Given the description of an element on the screen output the (x, y) to click on. 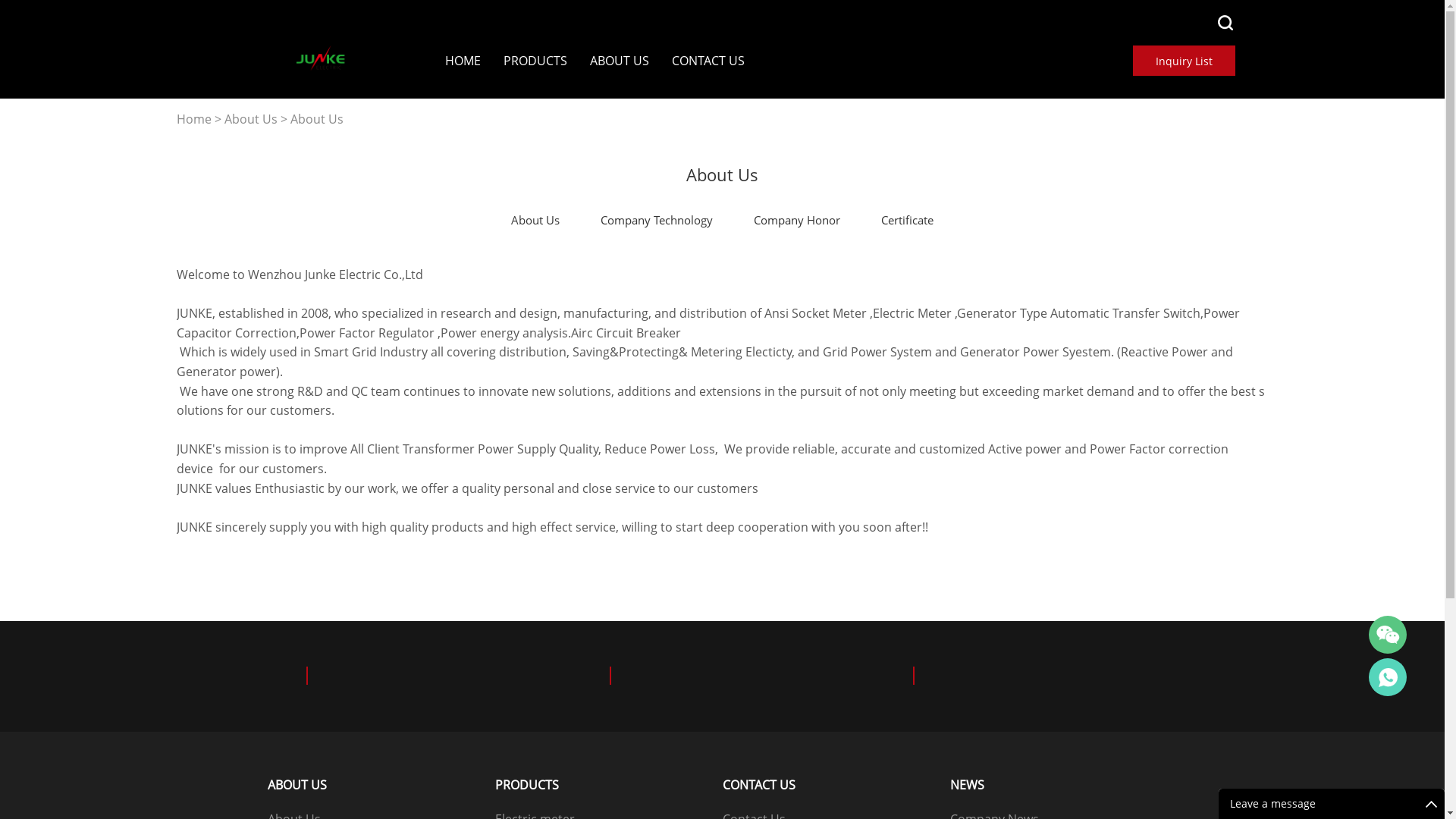
ABOUT US Element type: text (619, 60)
About Us Element type: text (315, 119)
Inquiry List Element type: text (1183, 60)
facebook Element type: text (186, 578)
Certificate Element type: text (907, 219)
About Us Element type: text (250, 119)
Junke wo Element type: text (1387, 677)
whatsapp Element type: text (309, 578)
Company Honor Element type: text (796, 219)
line Element type: text (227, 578)
tumblr Element type: text (391, 578)
pinterest Element type: text (350, 578)
PRODUCTS Element type: text (535, 60)
CONTACT US Element type: text (707, 60)
About Us Element type: text (535, 219)
Home Element type: text (192, 119)
twitter Element type: text (268, 578)
Company Technology Element type: text (656, 219)
HOME Element type: text (462, 60)
